Given the description of an element on the screen output the (x, y) to click on. 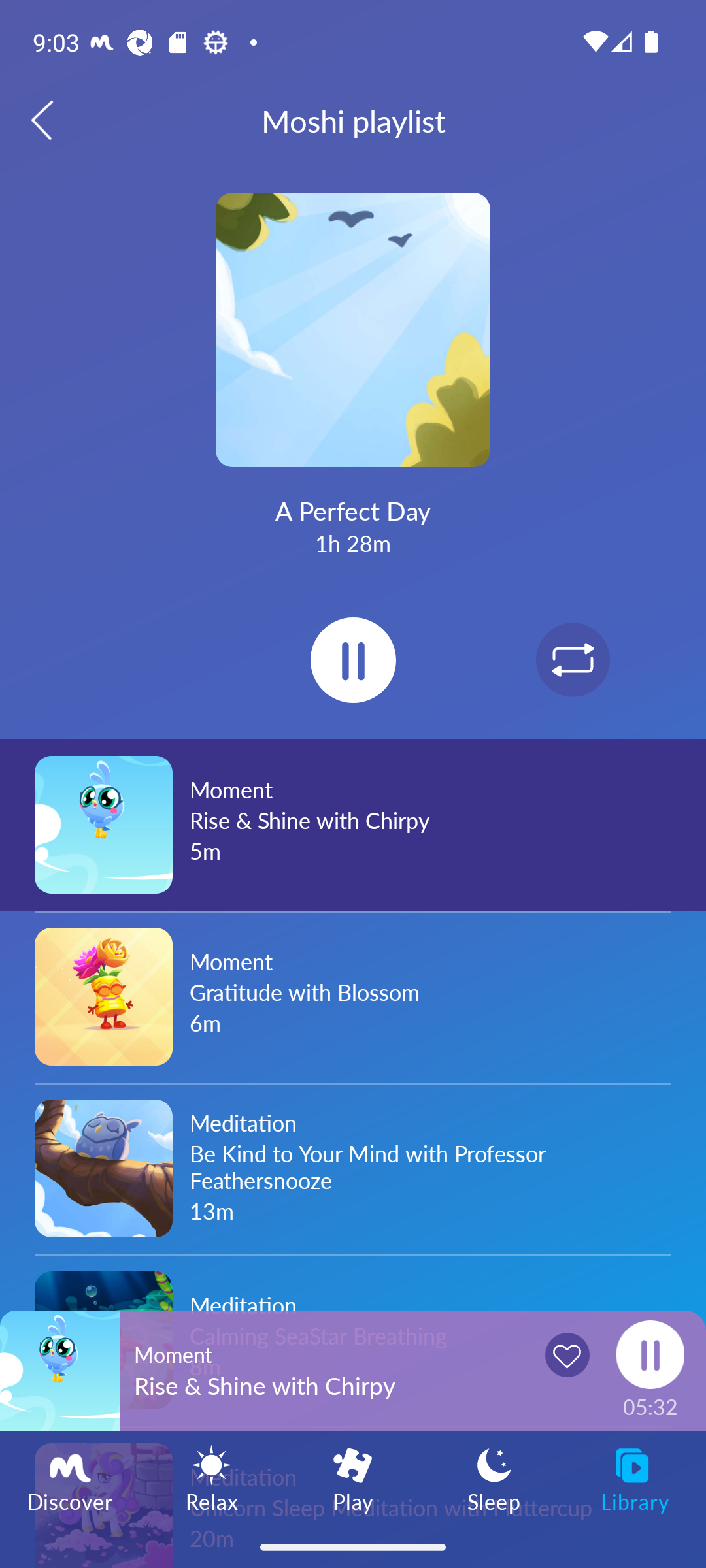
Moment Rise & Shine with Chirpy 5m (353, 824)
Moment Gratitude with Blossom 6m (353, 996)
Moment Rise & Shine with Chirpy 05:32 (353, 1370)
Discover (70, 1478)
Relax (211, 1478)
Play (352, 1478)
Sleep (493, 1478)
